Given the description of an element on the screen output the (x, y) to click on. 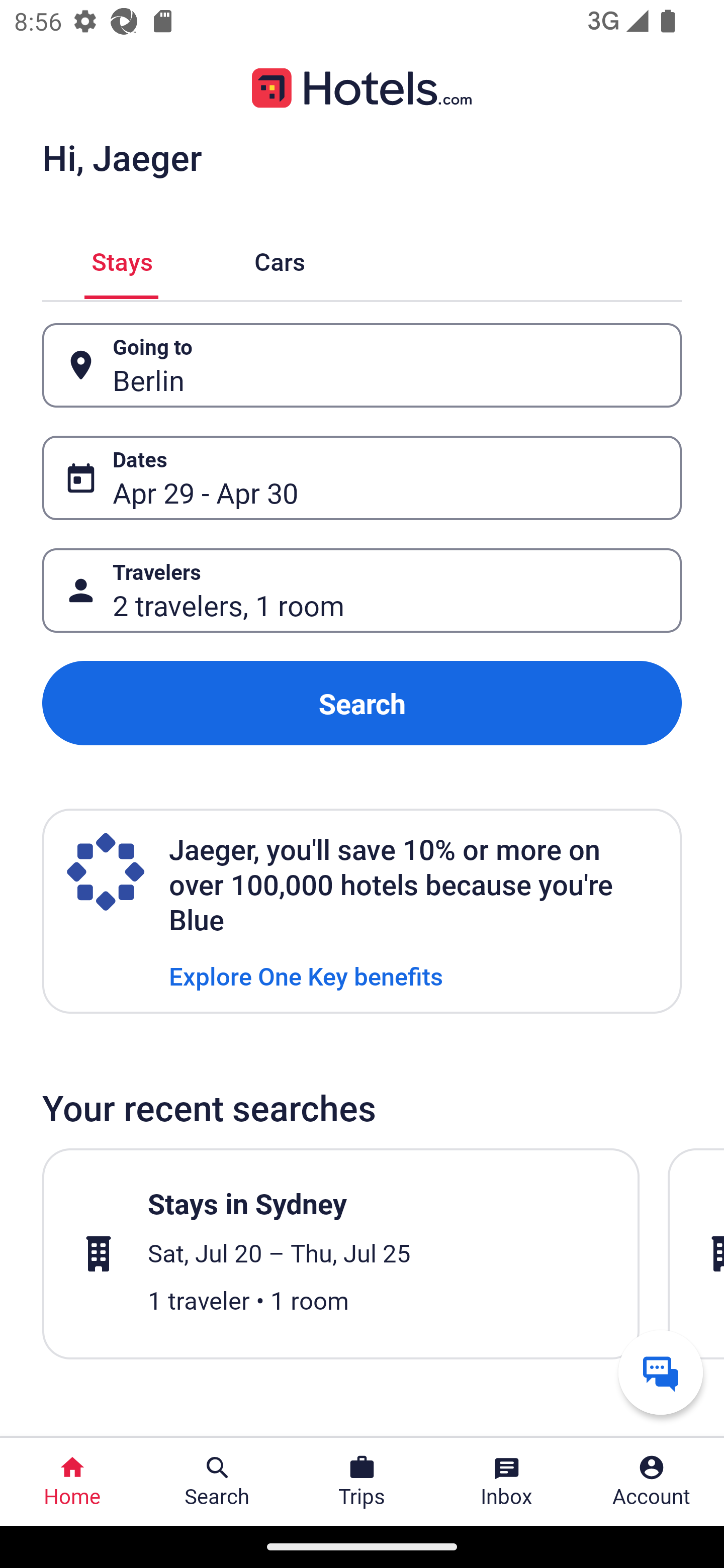
Hi, Jaeger (121, 156)
Cars (279, 259)
Going to Button Berlin (361, 365)
Dates Button Apr 29 - Apr 30 (361, 477)
Travelers Button 2 travelers, 1 room (361, 590)
Search (361, 702)
Get help from a virtual agent (660, 1371)
Search Search Button (216, 1481)
Trips Trips Button (361, 1481)
Inbox Inbox Button (506, 1481)
Account Profile. Button (651, 1481)
